Given the description of an element on the screen output the (x, y) to click on. 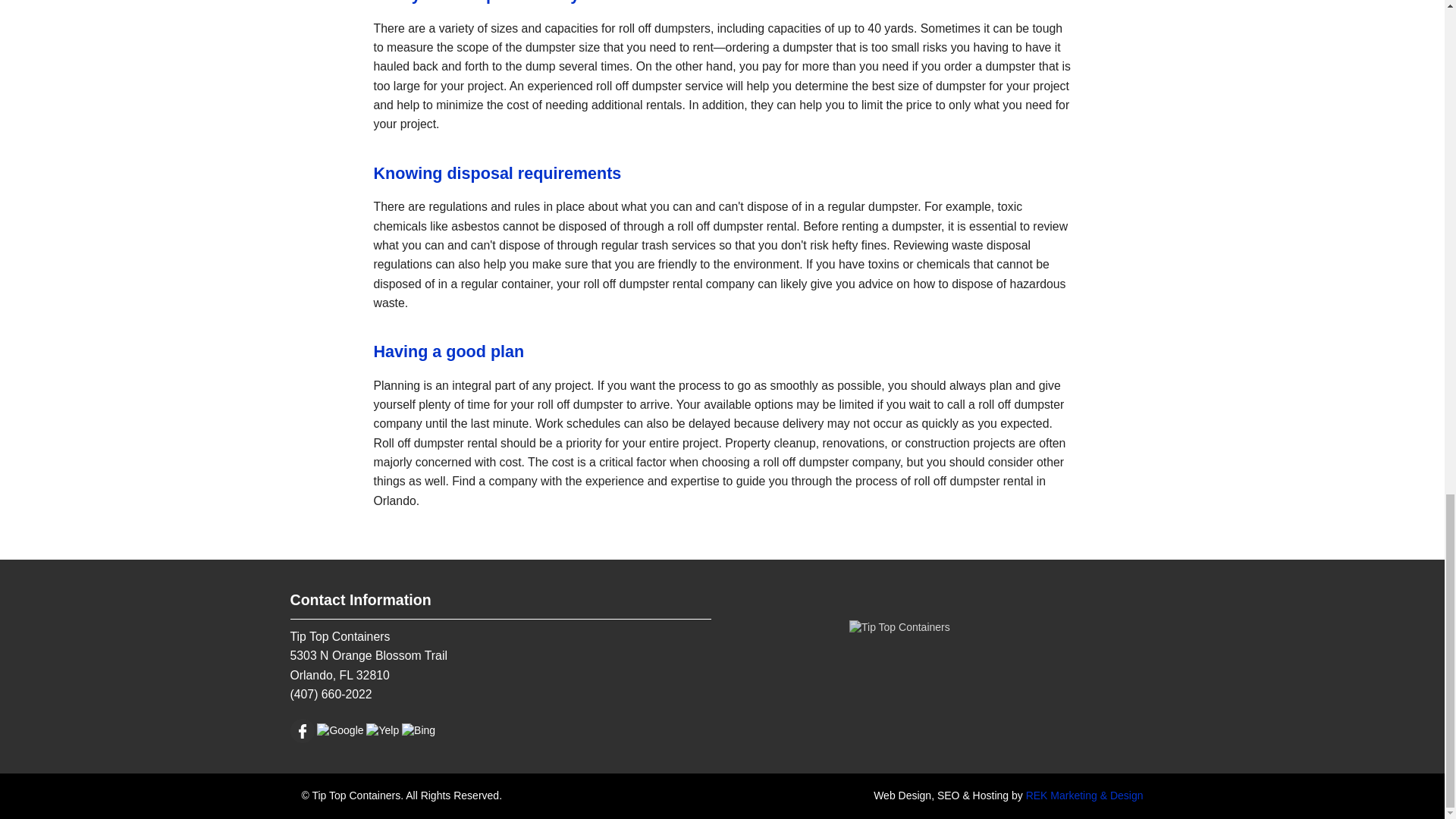
Tip Top Containers Google (339, 729)
Tip Top Containers Yelp (382, 729)
Tip Top Containers Bing (418, 729)
Tip Top Containers Facebook (301, 729)
